Given the description of an element on the screen output the (x, y) to click on. 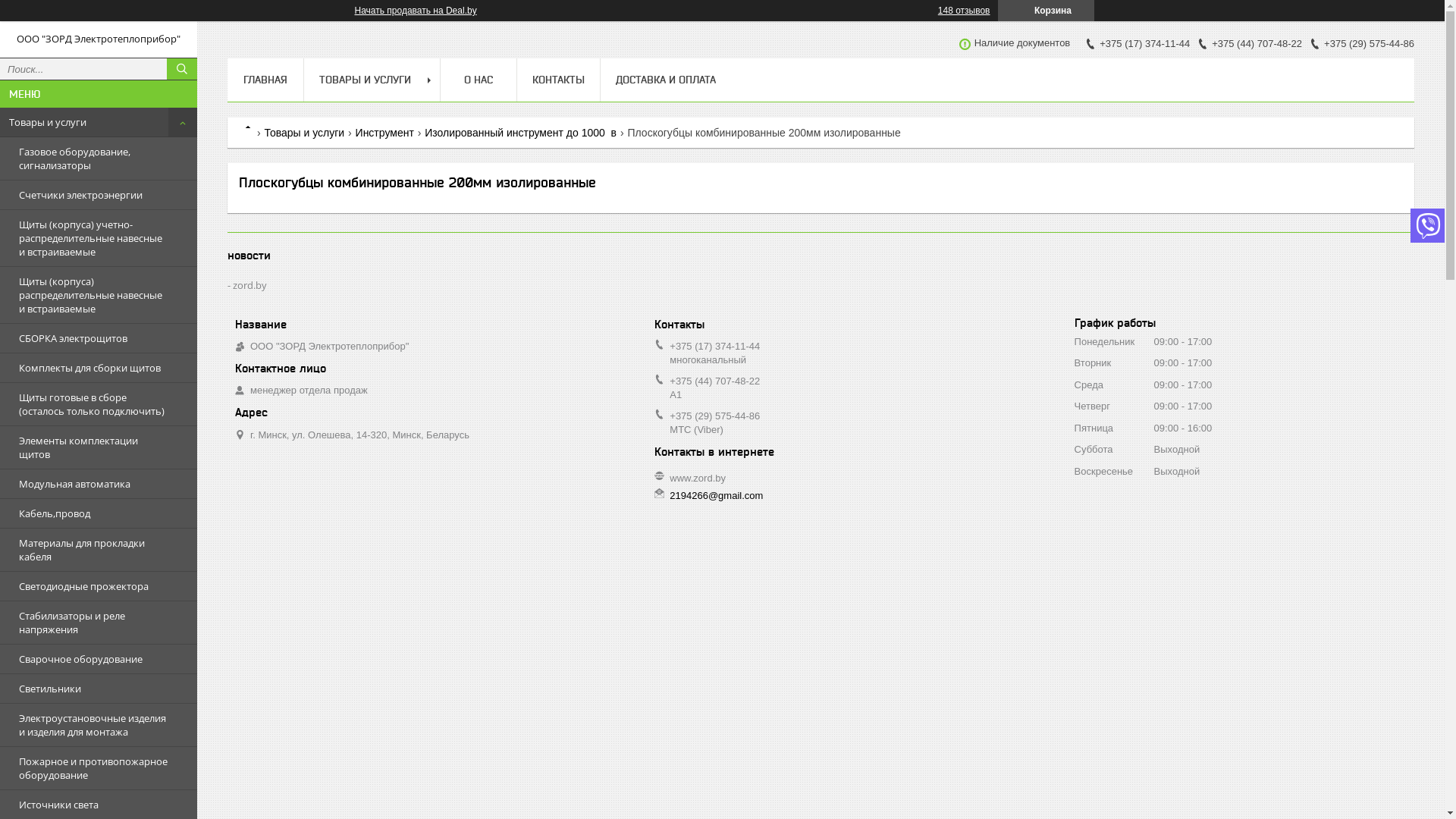
zord.by Element type: text (246, 284)
2194266@gmail.com Element type: text (715, 495)
www.zord.by Element type: text (697, 477)
